Given the description of an element on the screen output the (x, y) to click on. 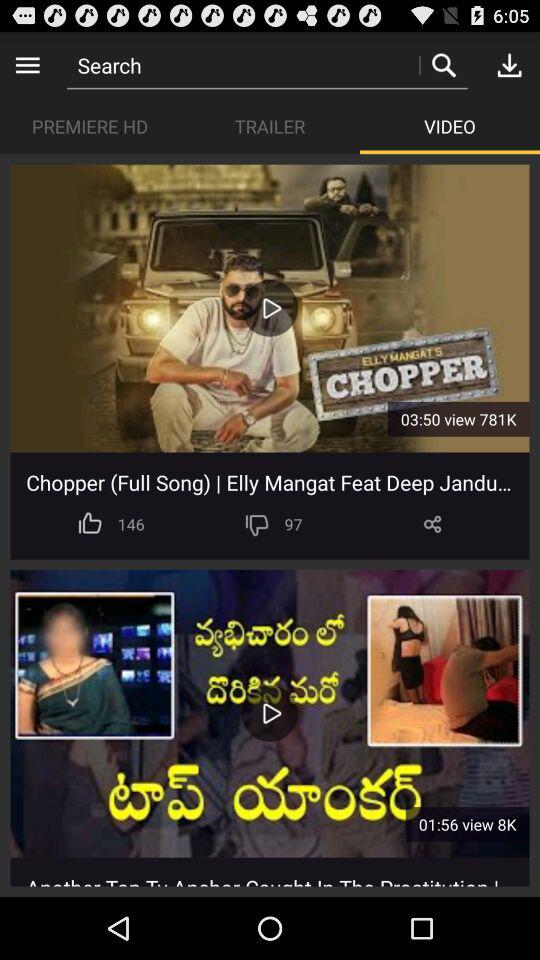
tap item above the chopper full song item (458, 418)
